Given the description of an element on the screen output the (x, y) to click on. 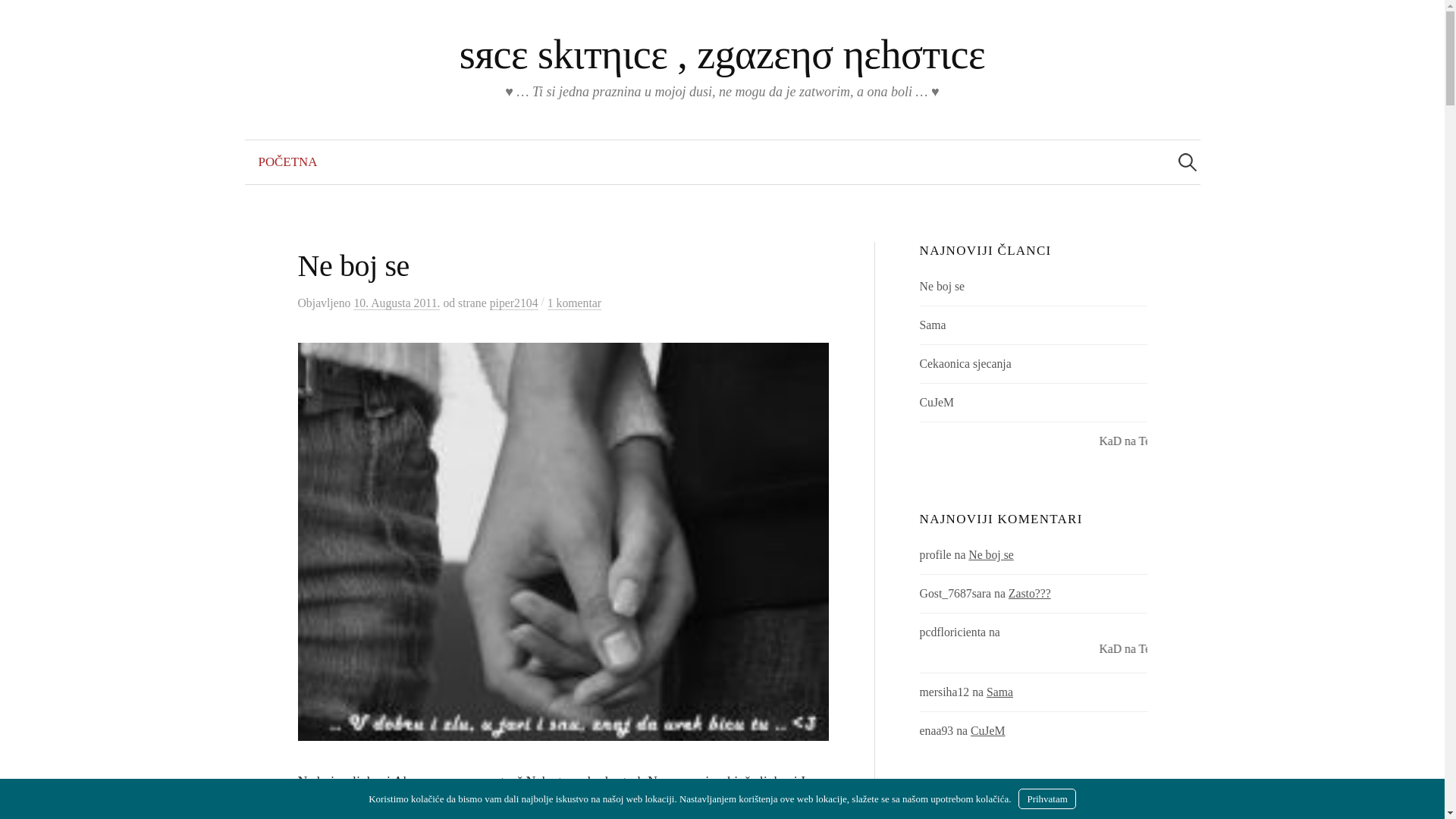
Ne boj se Element type: text (942, 285)
CuJeM Element type: text (987, 730)
Sama Element type: text (932, 324)
Ne boj se Element type: text (990, 554)
1 komentar
na Ne boj se Element type: text (574, 303)
Sama Element type: text (999, 691)
KaD na TeBe PoMiSLiM Element type: text (1033, 652)
CuJeM Element type: text (936, 401)
Cekaonica sjecanja Element type: text (965, 363)
piper2104 Element type: text (513, 303)
KaD na TeBe PoMiSLiM Element type: text (1033, 445)
Prihvatam Element type: text (1046, 798)
Pretraga Element type: text (18, 18)
10. Augusta 2011. Element type: text (396, 303)
Ne boj se Element type: text (352, 265)
Zasto??? Element type: text (1029, 592)
